Given the description of an element on the screen output the (x, y) to click on. 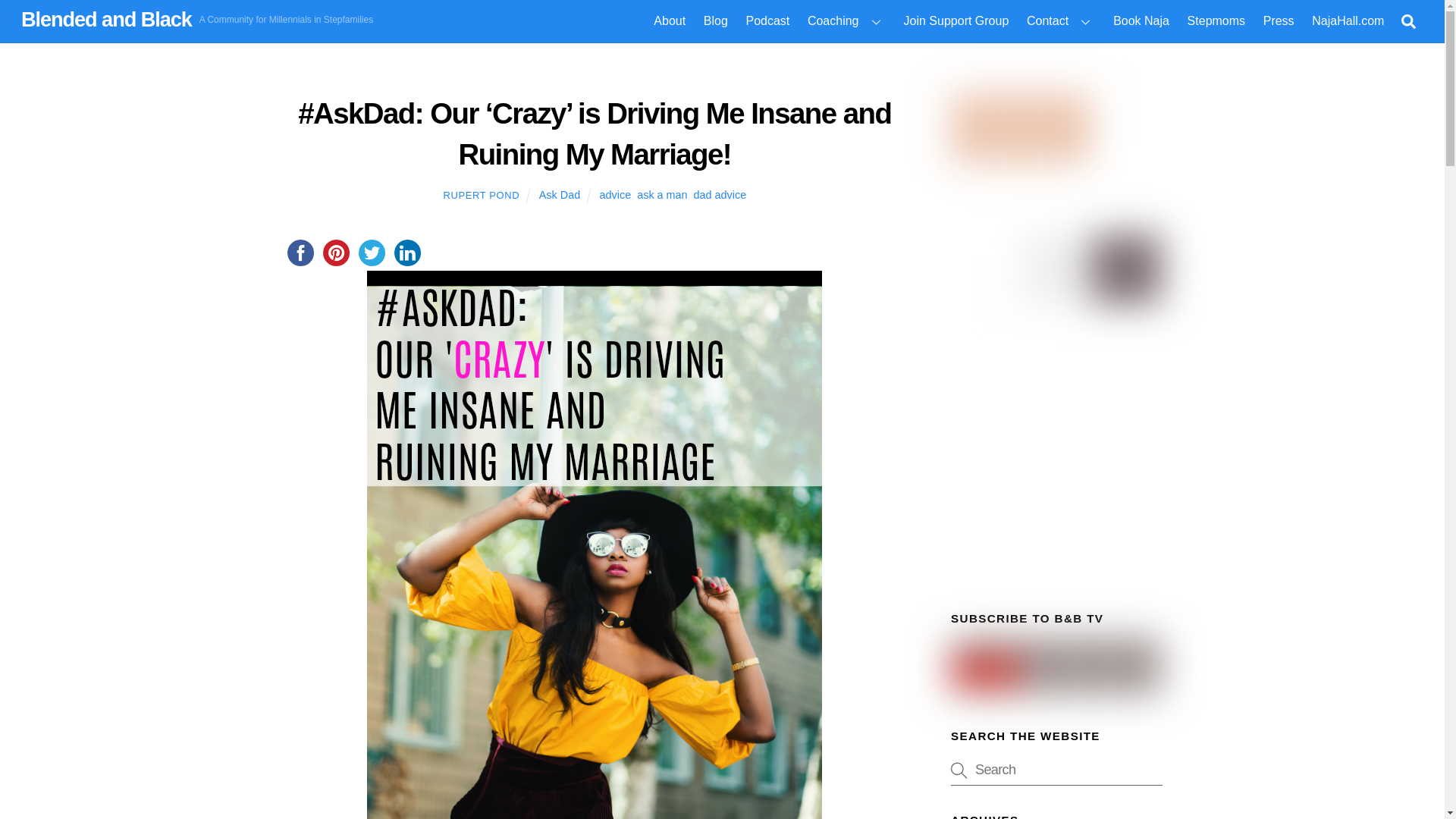
Podcast (767, 21)
Blog (715, 21)
ask a man (662, 194)
Press (1278, 21)
NajaHall.com (1347, 21)
Blended and Black (106, 19)
RUPERT POND (480, 194)
Contact (1060, 21)
twitter (370, 253)
